Given the description of an element on the screen output the (x, y) to click on. 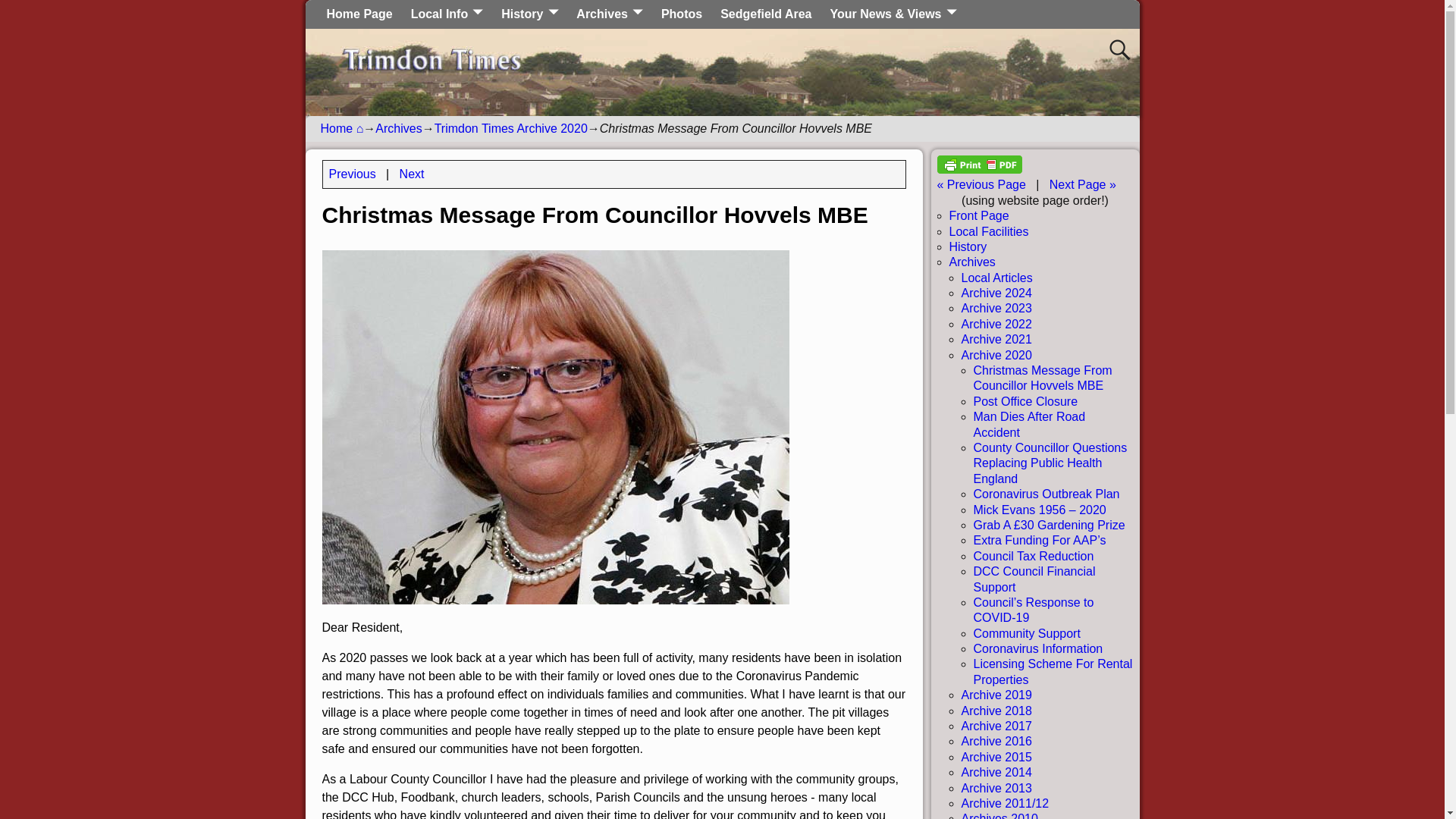
Archives (609, 14)
Next (411, 173)
Sedgefield Area (766, 14)
Trimdon Times Archive 2020 (510, 128)
Local Info (447, 14)
Home Page (359, 14)
Previous (352, 173)
History (529, 14)
Archives (398, 128)
Photos (681, 14)
Archived pages from recent years. (609, 14)
